Given the description of an element on the screen output the (x, y) to click on. 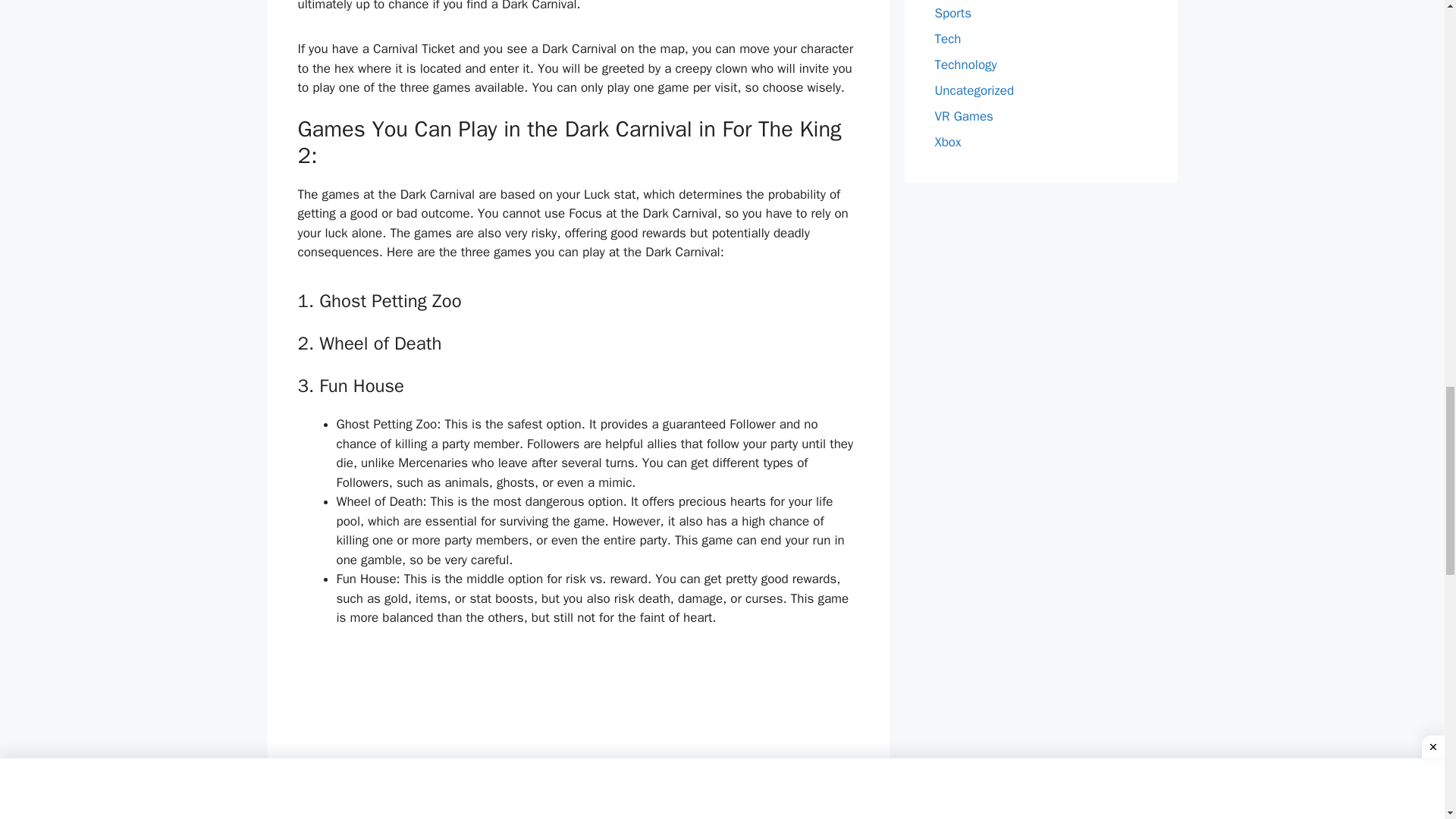
Uncategorized (973, 90)
Xbox (947, 141)
Sports (952, 12)
Technology (964, 64)
VR Games (963, 116)
Tech (947, 38)
